Given the description of an element on the screen output the (x, y) to click on. 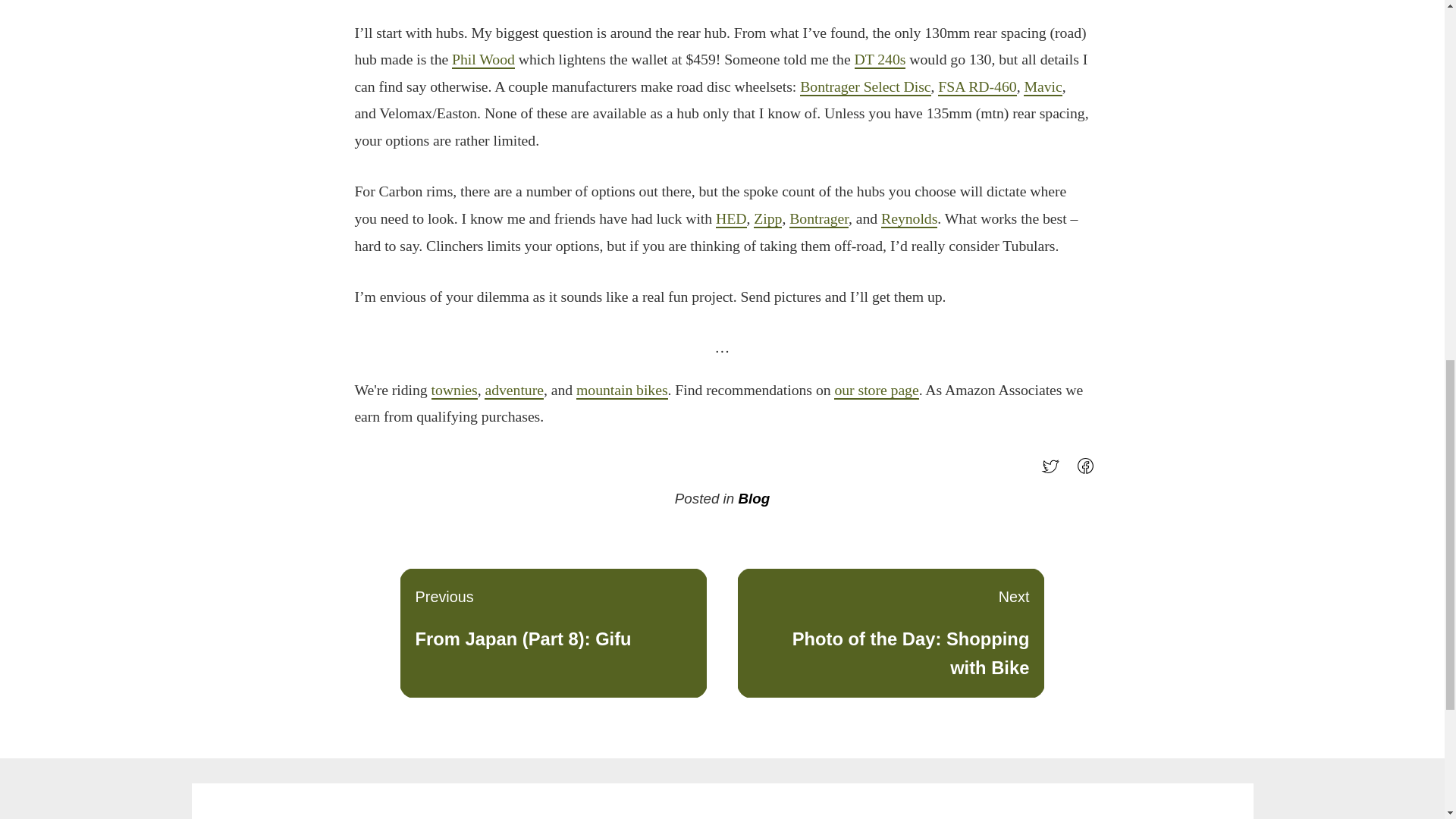
mountain bikes (622, 390)
Share on Facebook (1089, 471)
townies (453, 390)
Tweet (1054, 471)
DT 240s (879, 59)
our store page (890, 633)
Zipp (876, 390)
HED (767, 218)
adventure (730, 218)
